Given the description of an element on the screen output the (x, y) to click on. 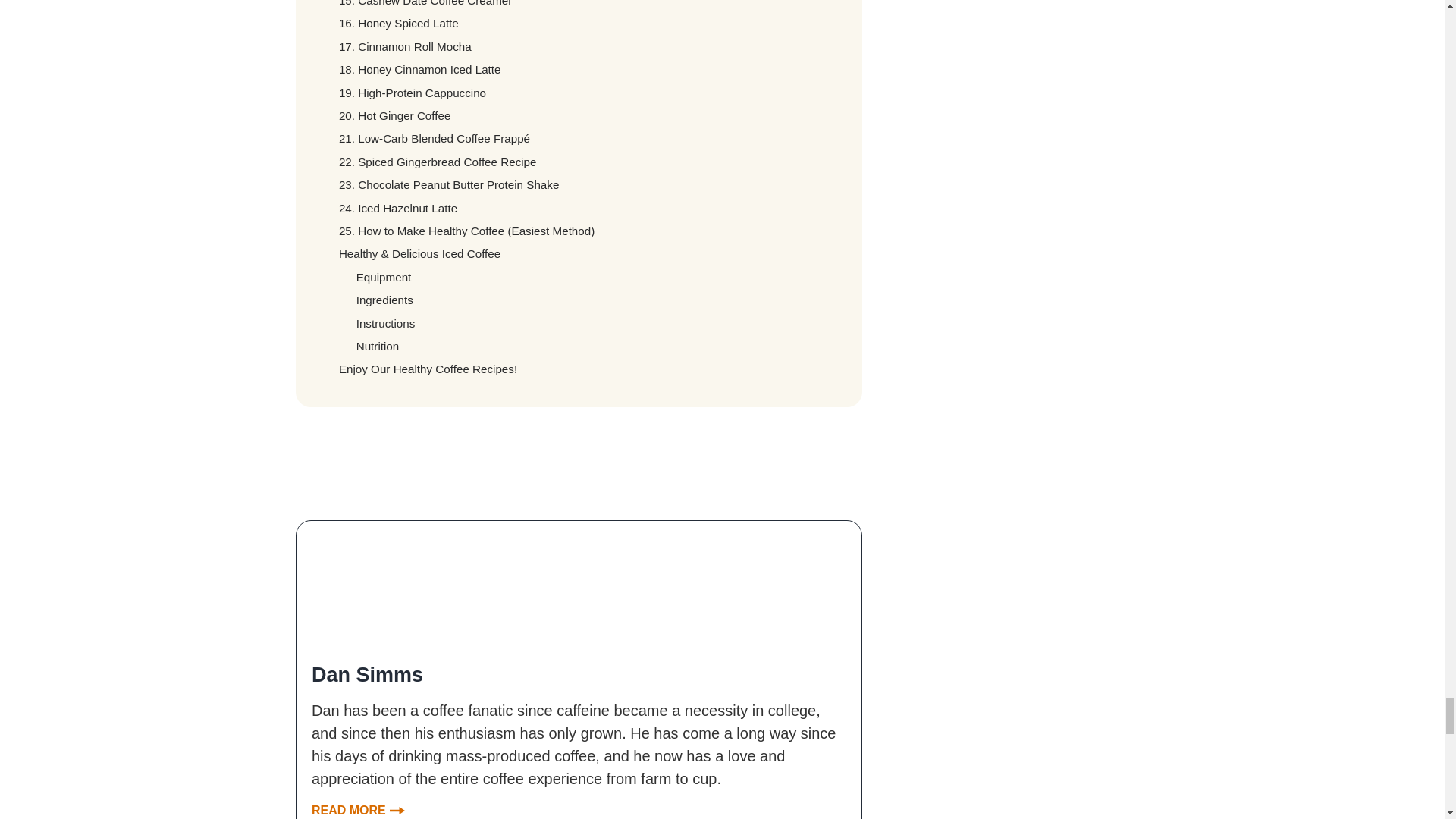
divider (578, 458)
